Given the description of an element on the screen output the (x, y) to click on. 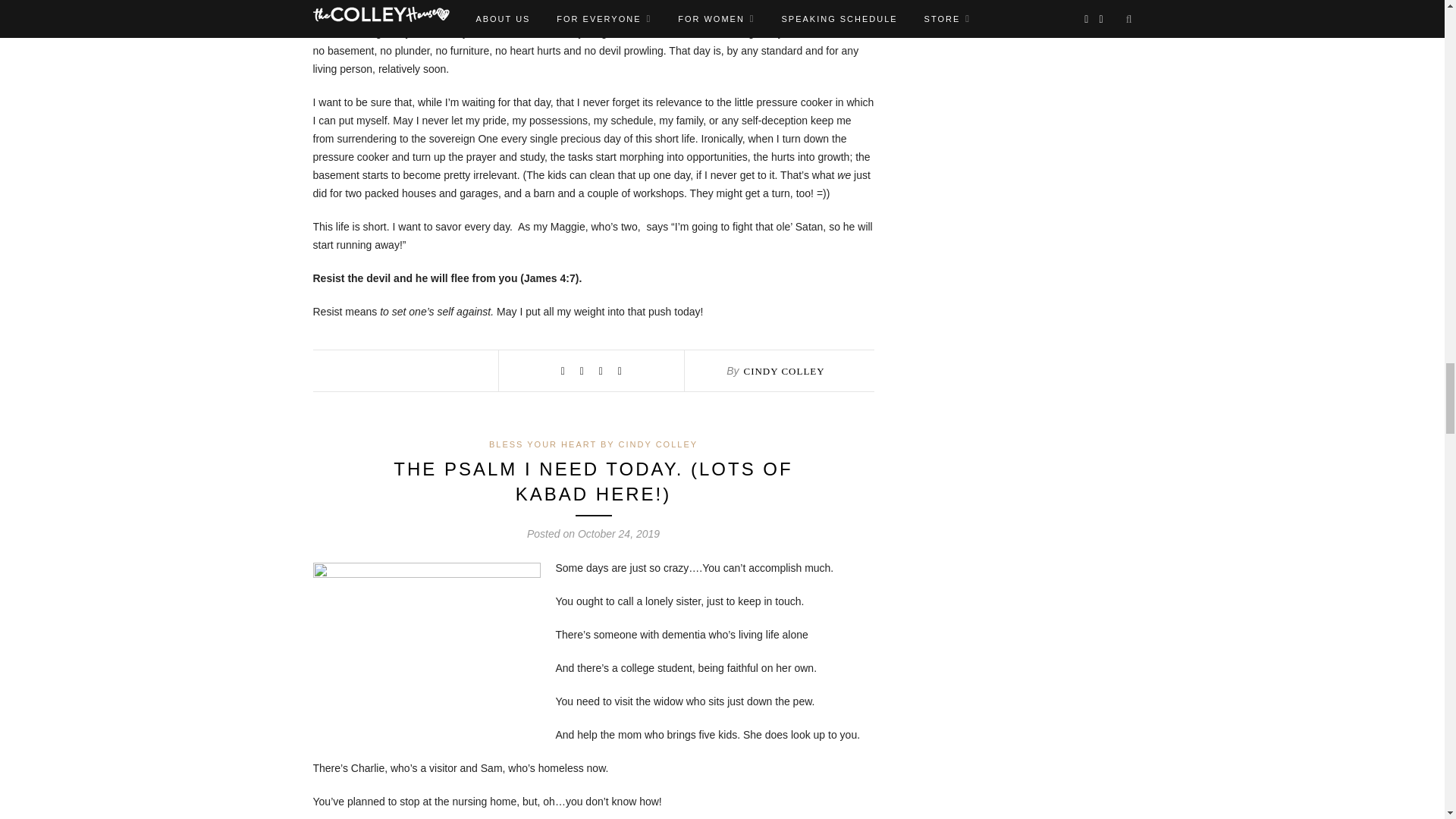
Posts by Cindy Colley (783, 370)
